Given the description of an element on the screen output the (x, y) to click on. 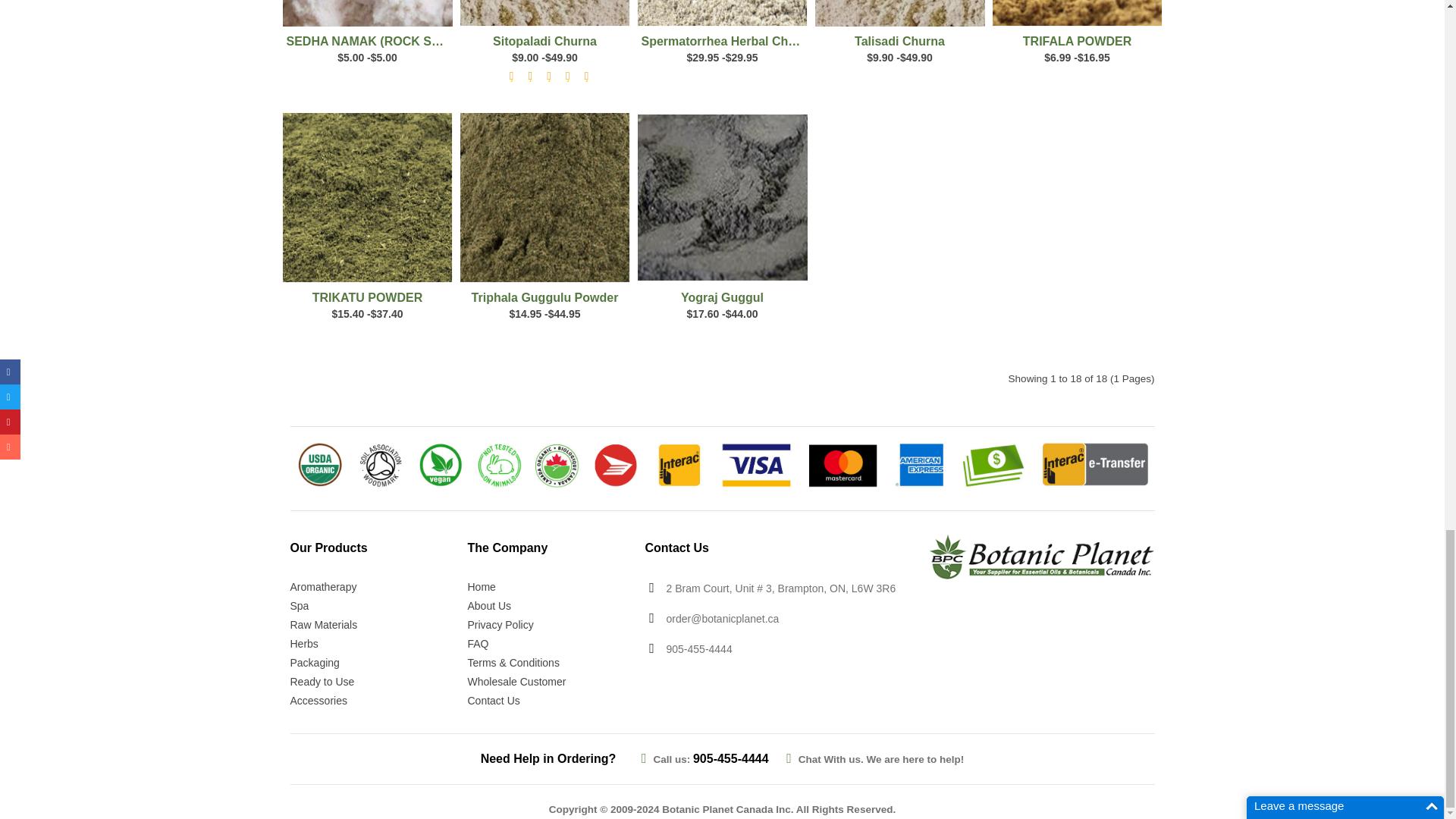
Sitopaladi Churna (544, 13)
Spermatorrhea Herbal Churan (721, 13)
Talisadi Churna (898, 13)
